Given the description of an element on the screen output the (x, y) to click on. 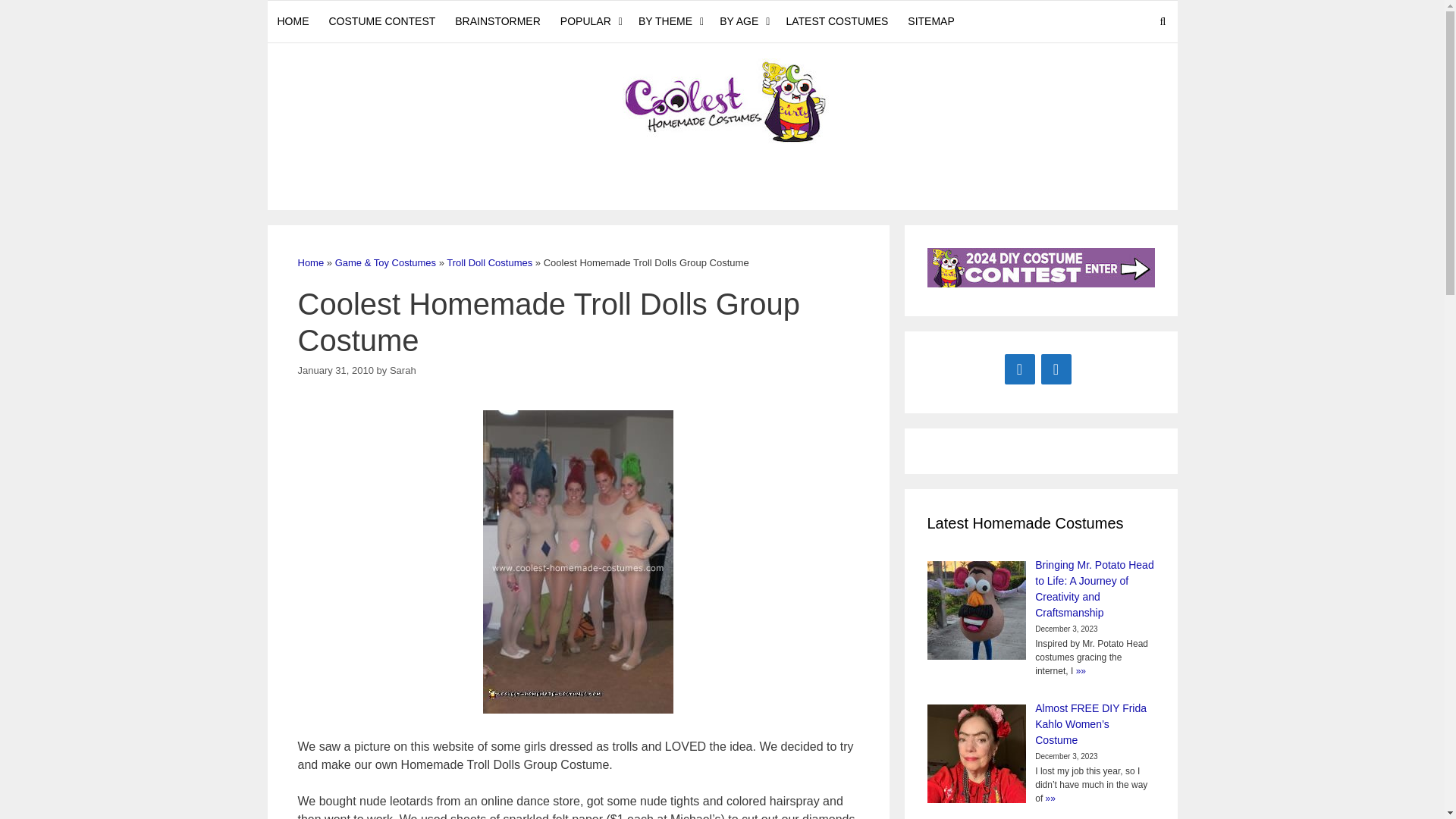
COSTUME CONTEST (381, 21)
POPULAR (589, 21)
HOME (292, 21)
View all posts by Sarah (403, 369)
BRAINSTORMER (497, 21)
Instagram (1055, 368)
SITEMAP (930, 21)
LATEST COSTUMES (837, 21)
Facebook (1018, 368)
BY THEME (669, 21)
